Given the description of an element on the screen output the (x, y) to click on. 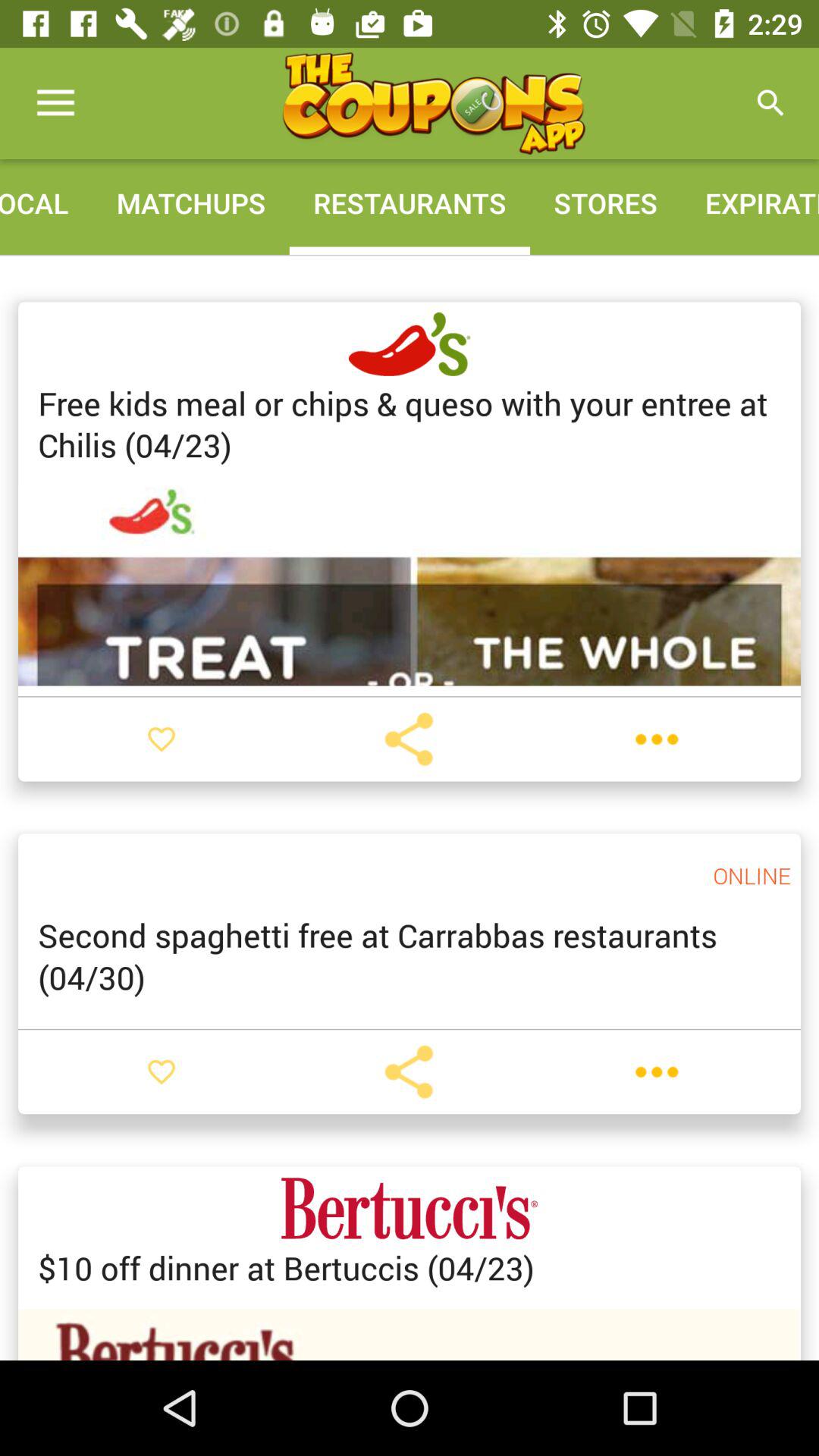
add to favorites (161, 1071)
